Given the description of an element on the screen output the (x, y) to click on. 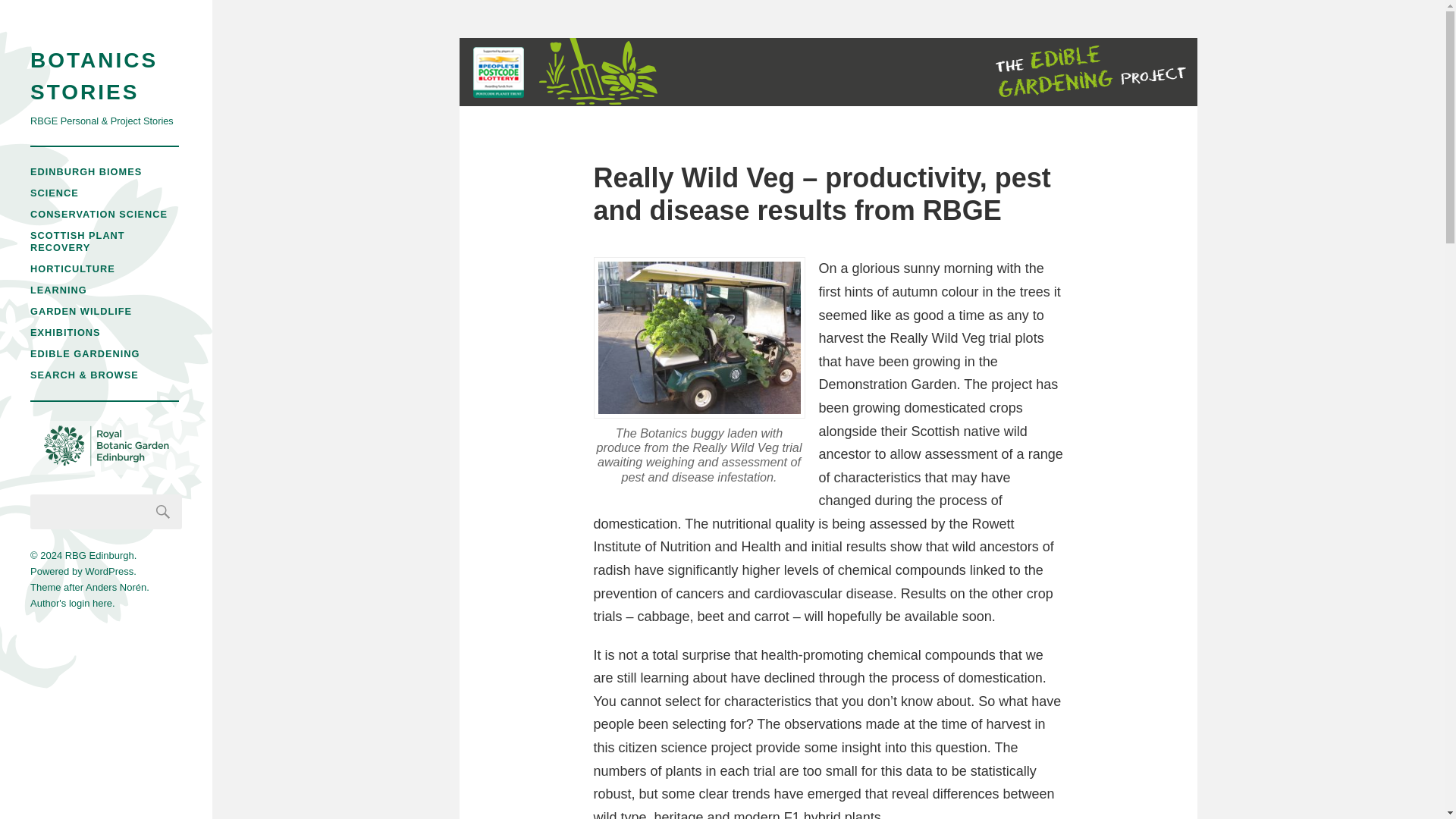
EDINBURGH BIOMES (85, 171)
EDIBLE GARDENING (84, 353)
EXHIBITIONS (65, 332)
Search (163, 511)
CONSERVATION SCIENCE (98, 214)
RBG Edinburgh (99, 555)
WordPress (108, 571)
Author's login here. (72, 603)
LEARNING (58, 289)
HORTICULTURE (72, 268)
SCIENCE (54, 193)
GARDEN WILDLIFE (81, 310)
SCOTTISH PLANT RECOVERY (77, 241)
Search (163, 511)
BOTANICS STORIES (106, 76)
